Given the description of an element on the screen output the (x, y) to click on. 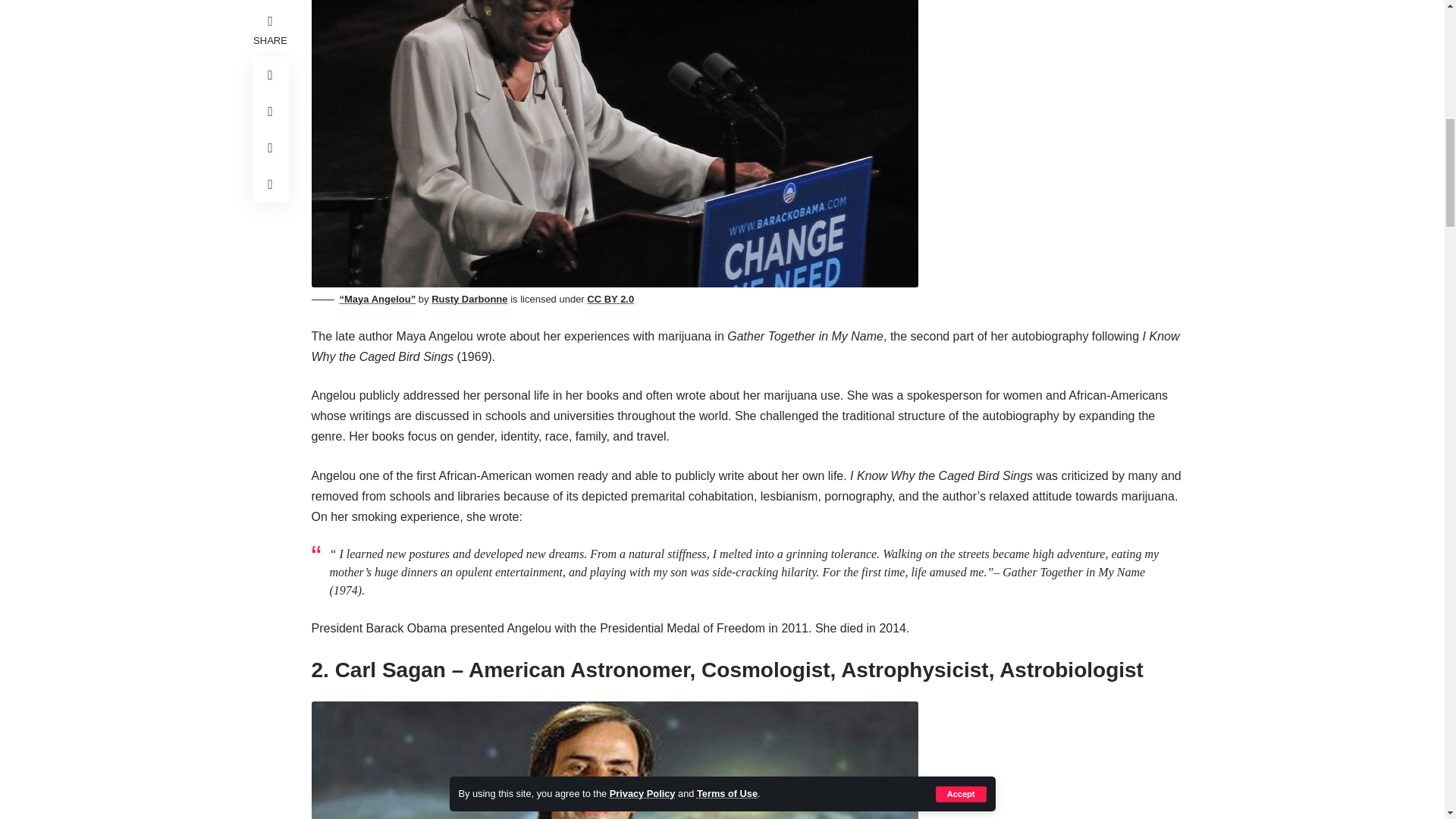
10 Genius Minds That Smoke Marijuana (614, 760)
